Given the description of an element on the screen output the (x, y) to click on. 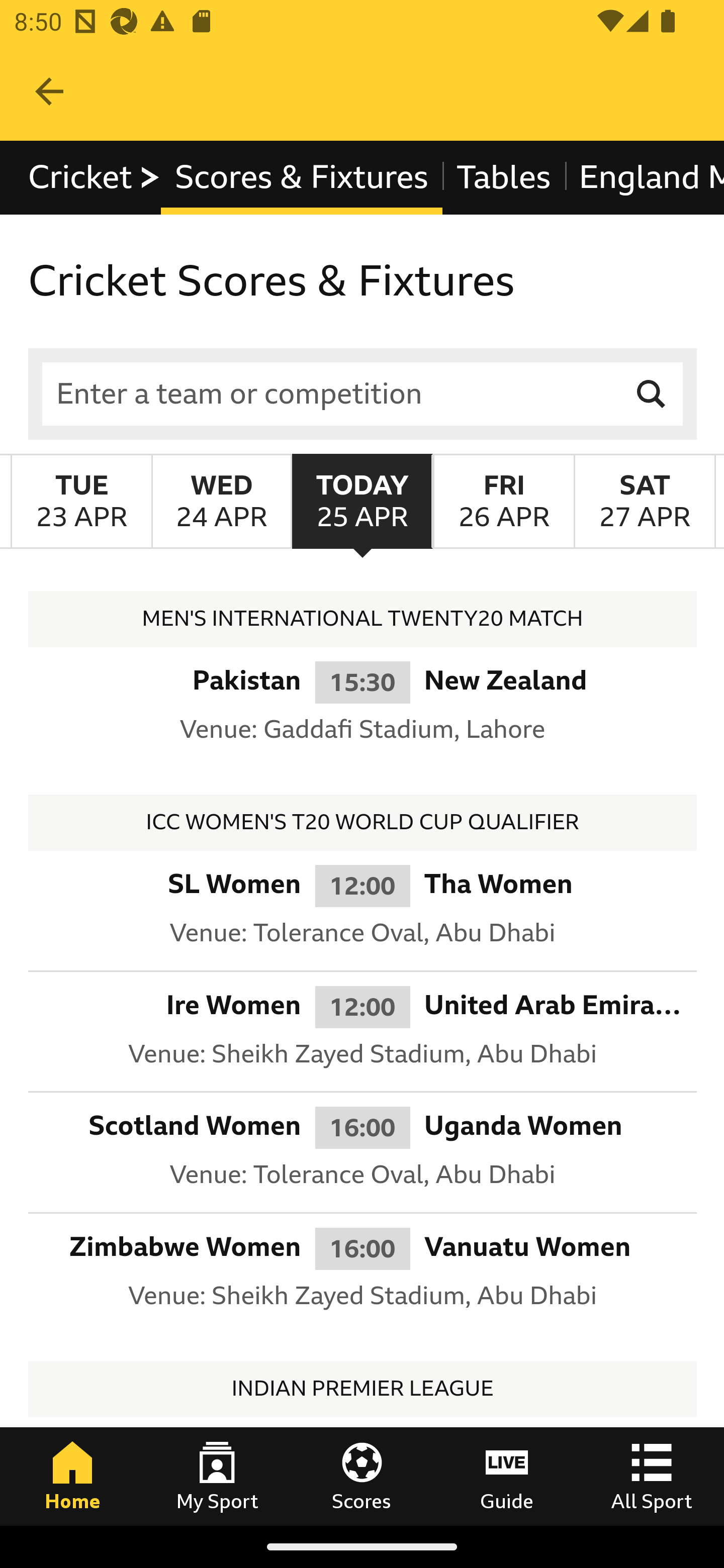
Navigate up (49, 91)
Cricket  (95, 177)
Scores & Fixtures (301, 177)
Tables (503, 177)
England Men (643, 177)
Search (651, 393)
TuesdayApril 23rd Tuesday April 23rd (81, 500)
WednesdayApril 24th Wednesday April 24th (221, 500)
FridayApril 26th Friday April 26th (502, 500)
SaturdayApril 27th Saturday April 27th (644, 500)
My Sport (216, 1475)
Scores (361, 1475)
Guide (506, 1475)
All Sport (651, 1475)
